Given the description of an element on the screen output the (x, y) to click on. 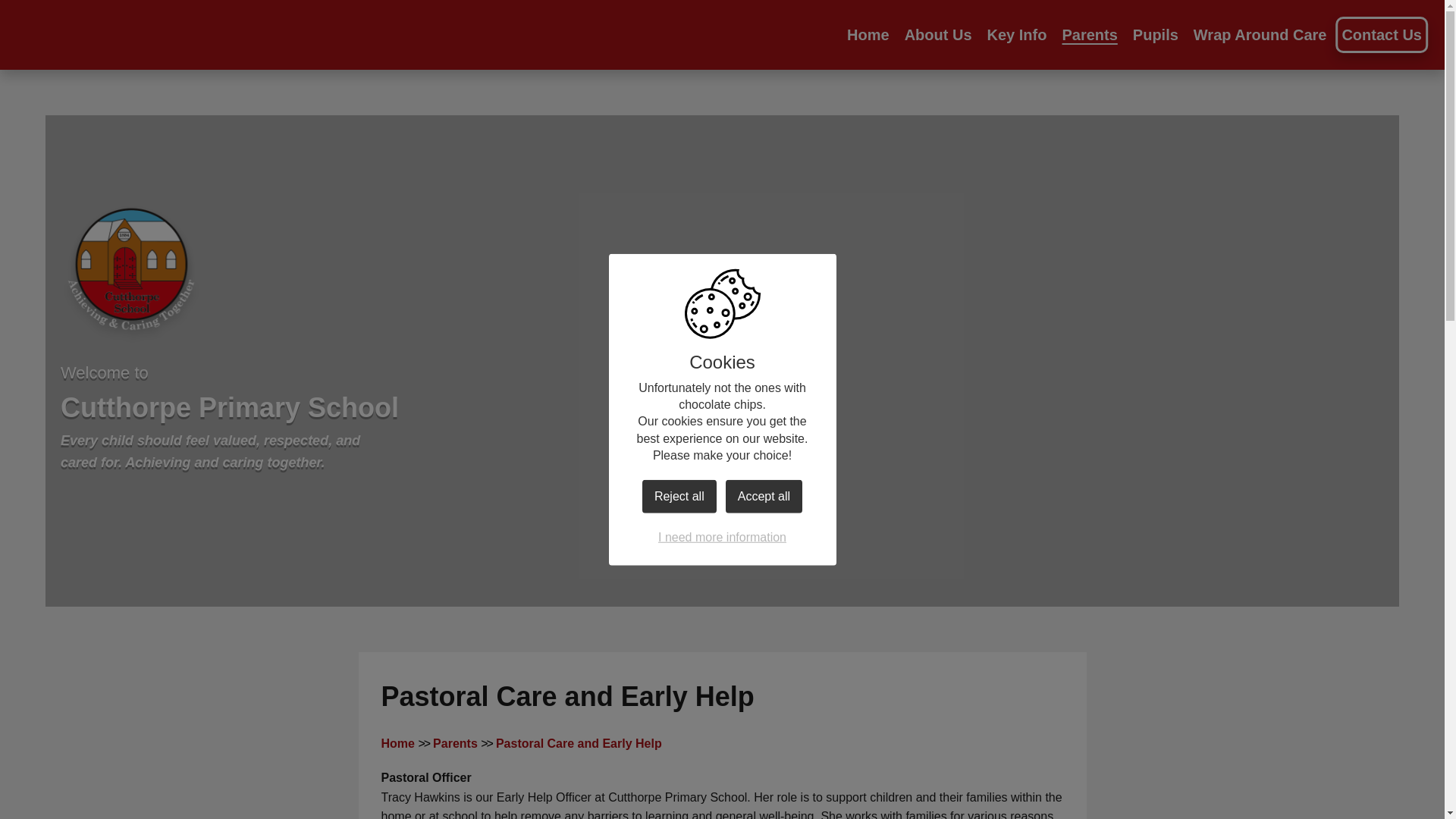
Parents (1088, 34)
Home Page (131, 273)
About Us (938, 34)
Key Info (1016, 34)
Home (868, 34)
